Given the description of an element on the screen output the (x, y) to click on. 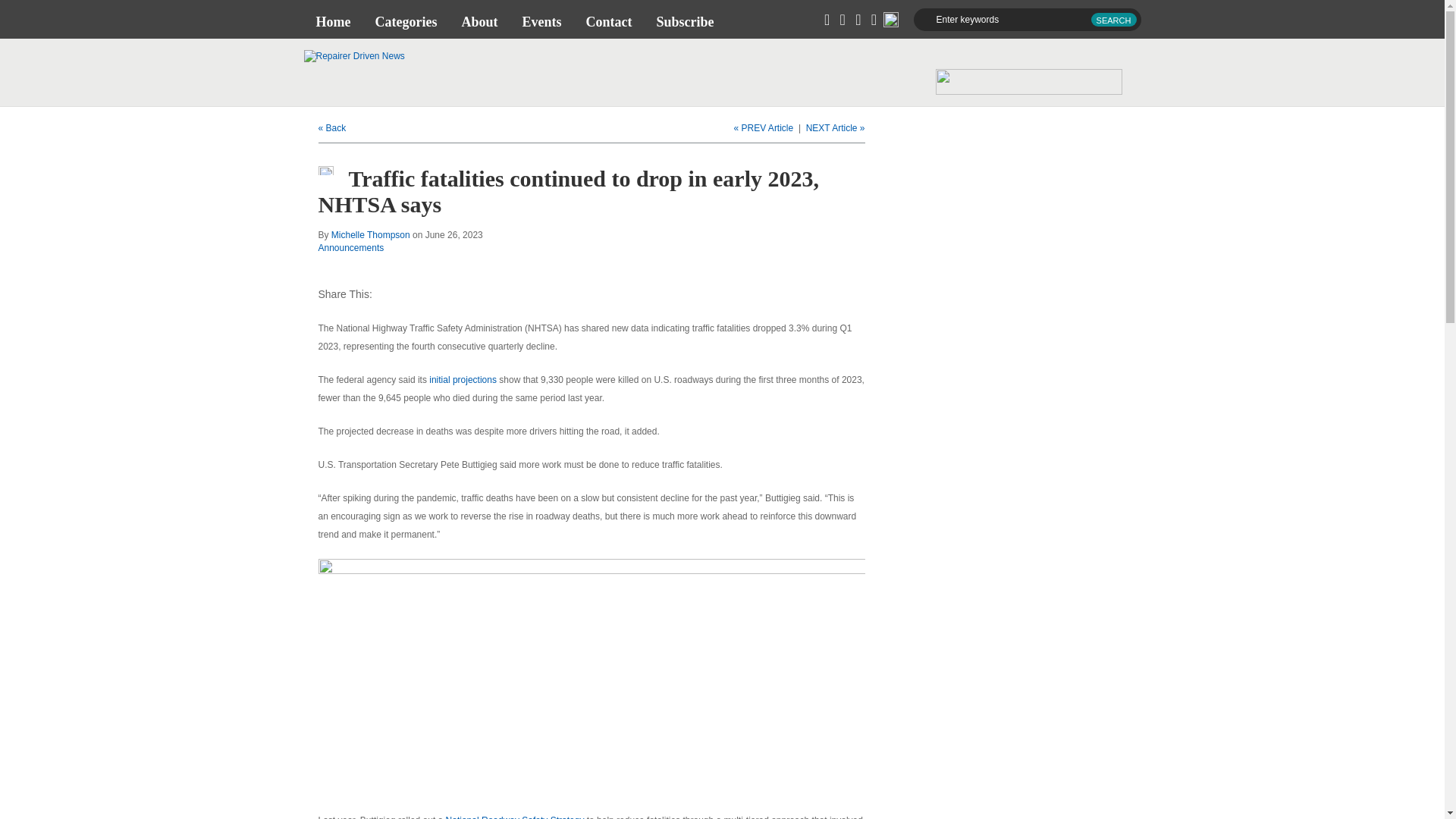
Search (1112, 19)
Subscribe (684, 21)
Events (541, 21)
Home (332, 21)
Enter keywords (1026, 19)
About (478, 21)
Contact (608, 21)
Search (1112, 19)
Search (1112, 19)
Enter keywords (1026, 19)
